Given the description of an element on the screen output the (x, y) to click on. 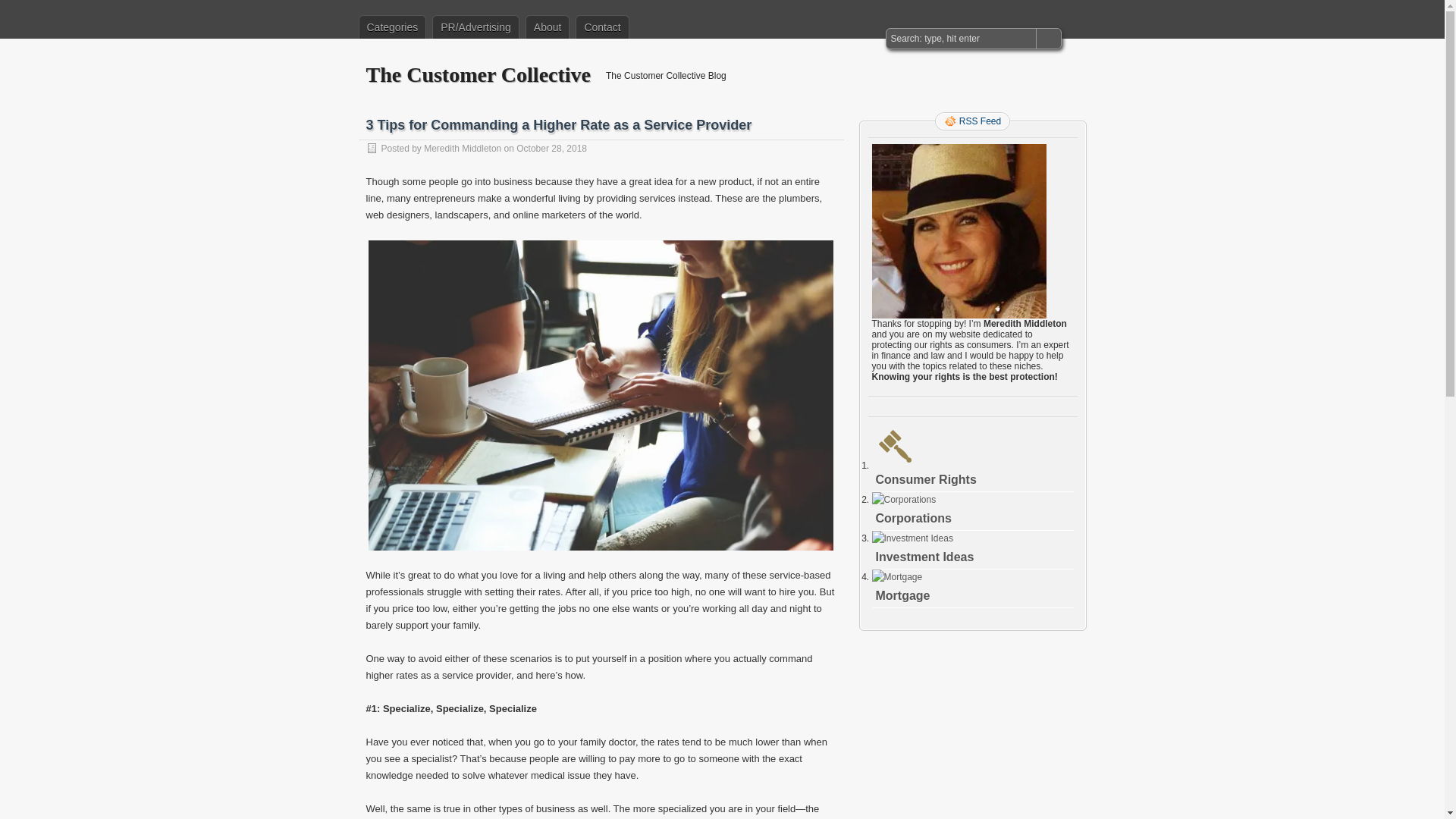
Consumer Rights (925, 479)
The Customer Collective (478, 74)
Categories (392, 26)
SEARCH (1047, 38)
RSS Feed (972, 120)
Meredith Middleton (461, 148)
RSS Feed (972, 120)
Search: type, hit enter (962, 38)
SEARCH (1047, 38)
About (547, 26)
Contact (601, 26)
View all posts by Meredith Middleton (461, 148)
